Given the description of an element on the screen output the (x, y) to click on. 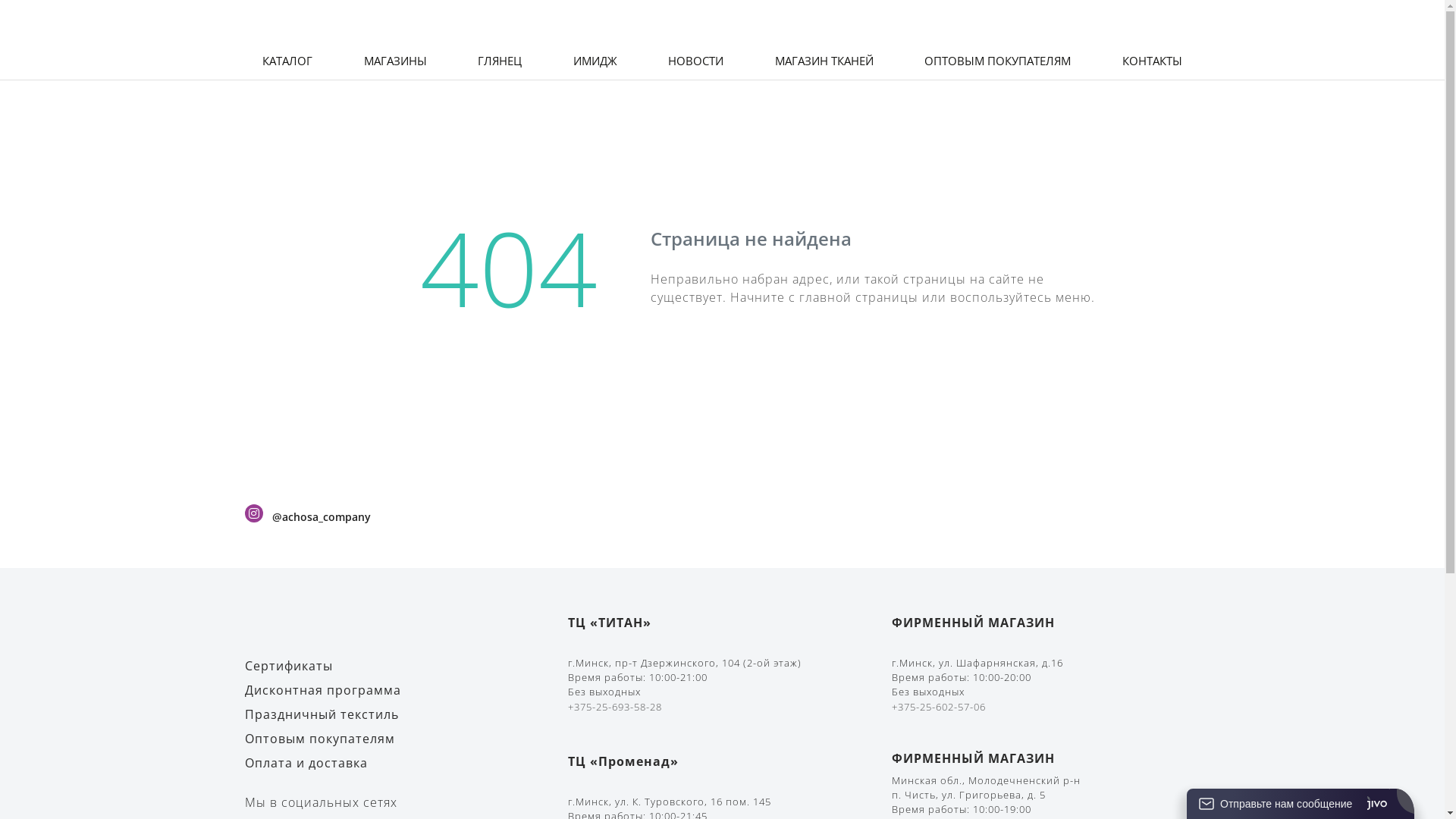
+375-25-693-58-28 Element type: text (614, 706)
+375-25-602-57-06 Element type: text (938, 706)
@achosa_company Element type: text (320, 516)
